Given the description of an element on the screen output the (x, y) to click on. 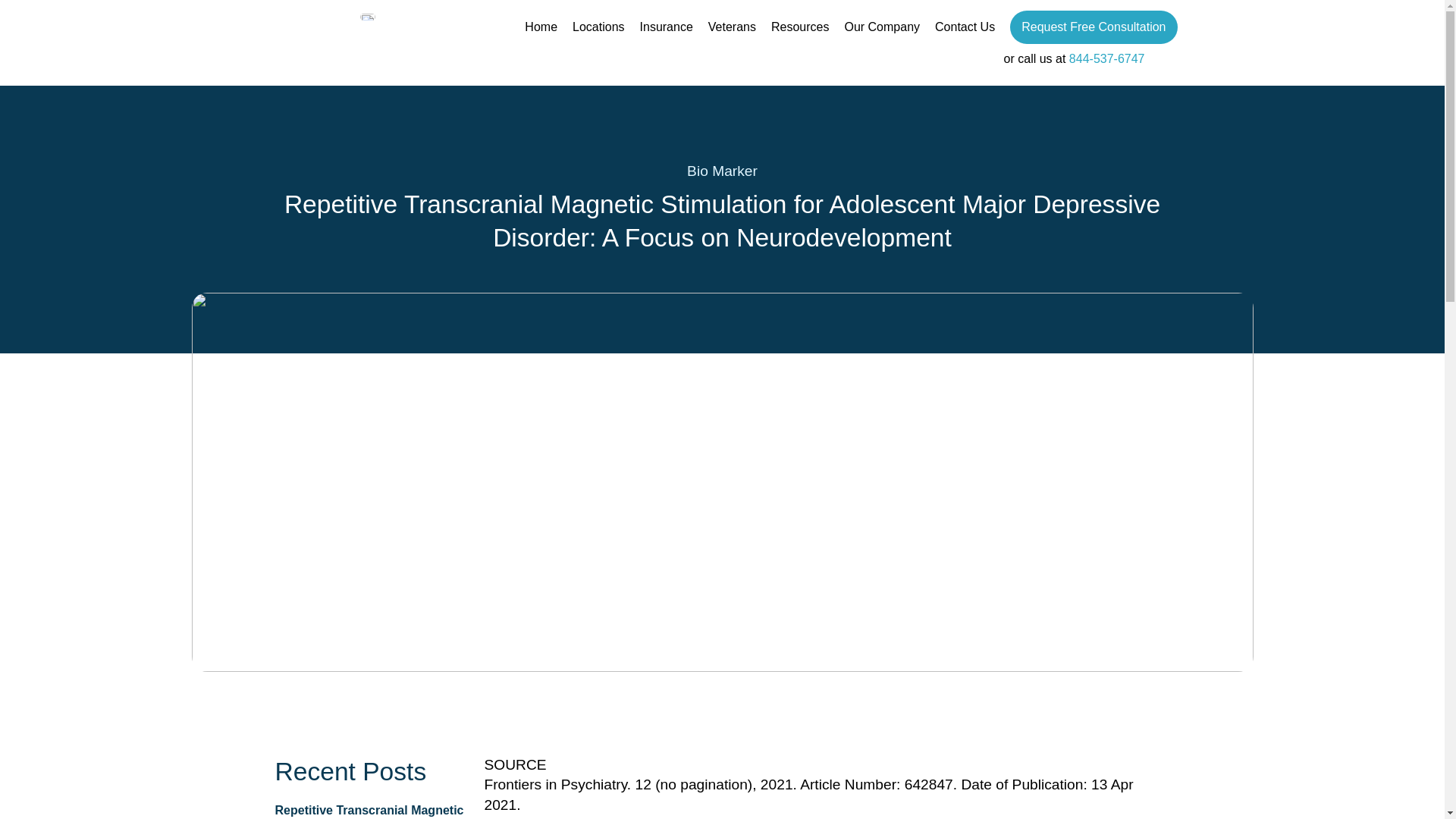
Resources (799, 26)
Insurance (666, 26)
Bio Marker (722, 170)
Veterans (731, 26)
Request Free Consultation (1093, 27)
844-537-6747 (1106, 58)
Contact Us (964, 26)
Locations (598, 26)
Our Company (882, 26)
